Given the description of an element on the screen output the (x, y) to click on. 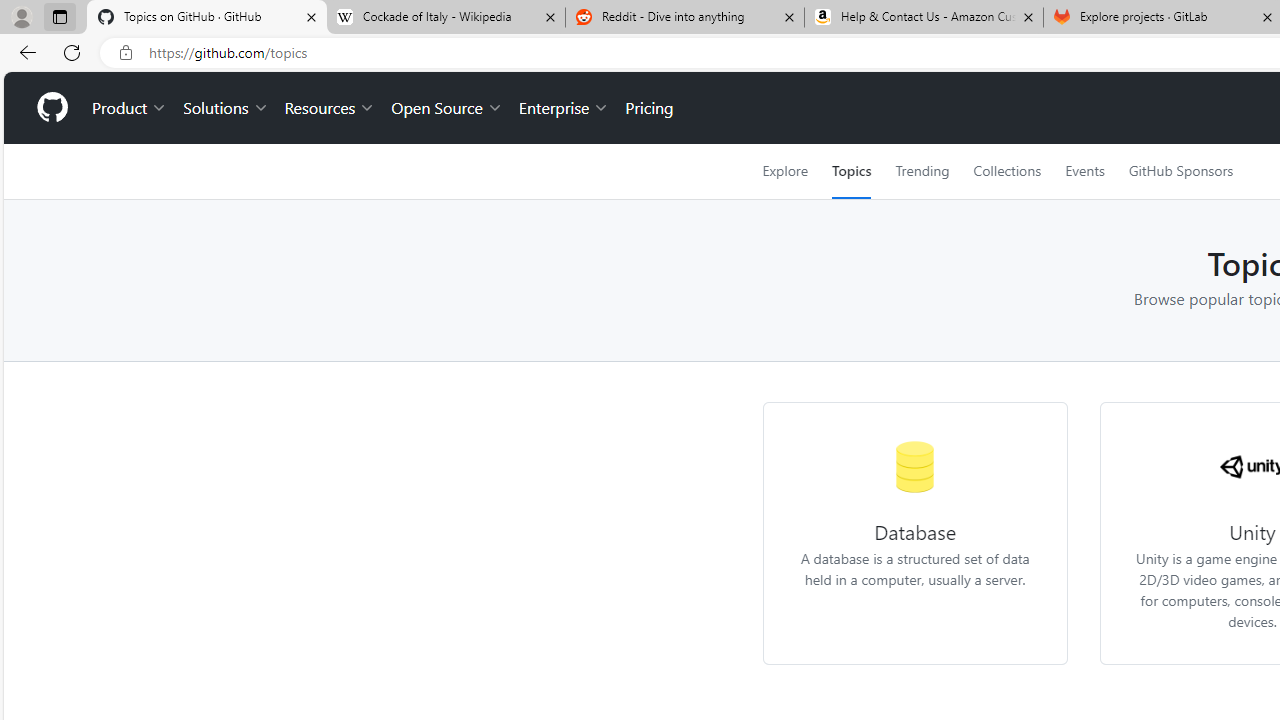
Product (130, 107)
Resources (330, 107)
database (915, 466)
Pricing (649, 107)
GitHub Sponsors (1180, 171)
Enterprise (563, 107)
Open Source (446, 107)
Help & Contact Us - Amazon Customer Service (924, 17)
Cockade of Italy - Wikipedia (445, 17)
Solutions (225, 107)
Events (1084, 171)
